Given the description of an element on the screen output the (x, y) to click on. 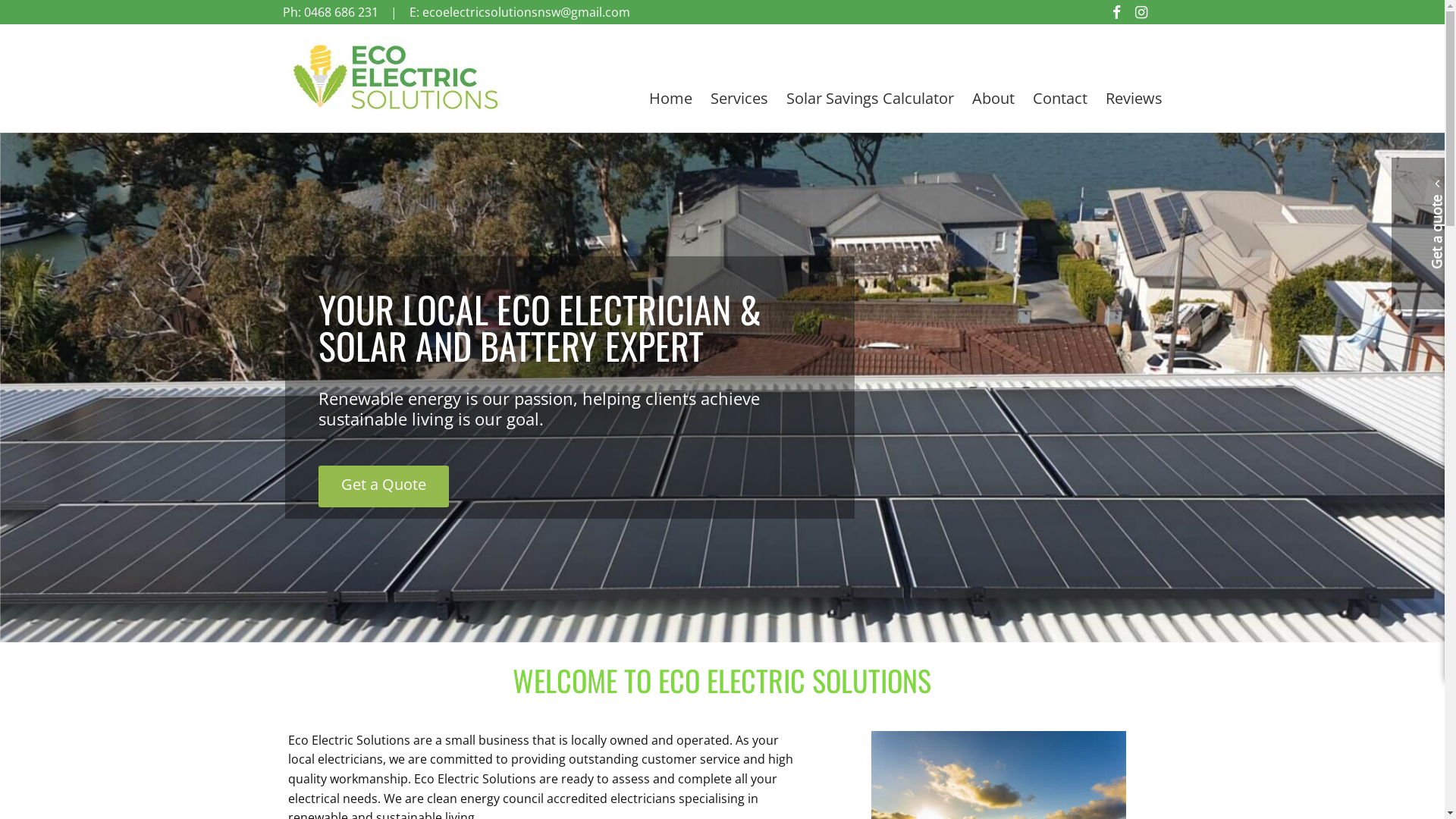
Reviews Element type: text (1130, 98)
Services Element type: text (738, 98)
About Element type: text (993, 98)
E: ecoelectricsolutionsnsw@gmail.com Element type: text (519, 11)
Home Element type: text (670, 98)
home Element type: hover (395, 109)
Contact Element type: text (1060, 98)
Like us on Facebook Element type: hover (1116, 11)
Follow us on Instagram Element type: hover (1141, 11)
Get a Quote Element type: text (383, 486)
Ph: 0468 686 231 Element type: text (329, 11)
Solar Savings Calculator Element type: text (869, 98)
